Given the description of an element on the screen output the (x, y) to click on. 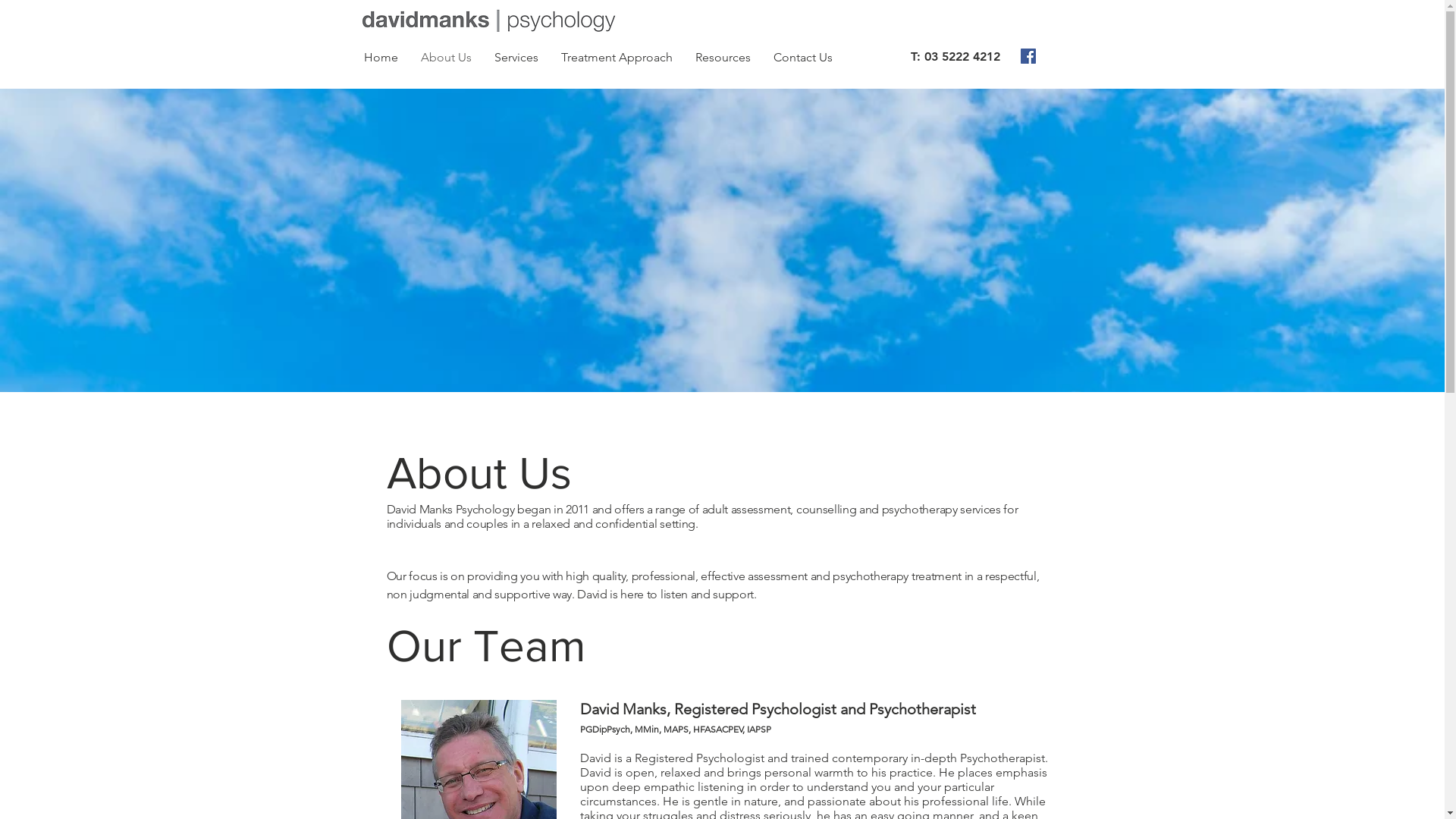
Resources Element type: text (723, 56)
Home Element type: text (379, 56)
Contact Us Element type: text (802, 56)
Treatment Approach Element type: text (616, 56)
Services Element type: text (515, 56)
About Us Element type: text (446, 56)
